Given the description of an element on the screen output the (x, y) to click on. 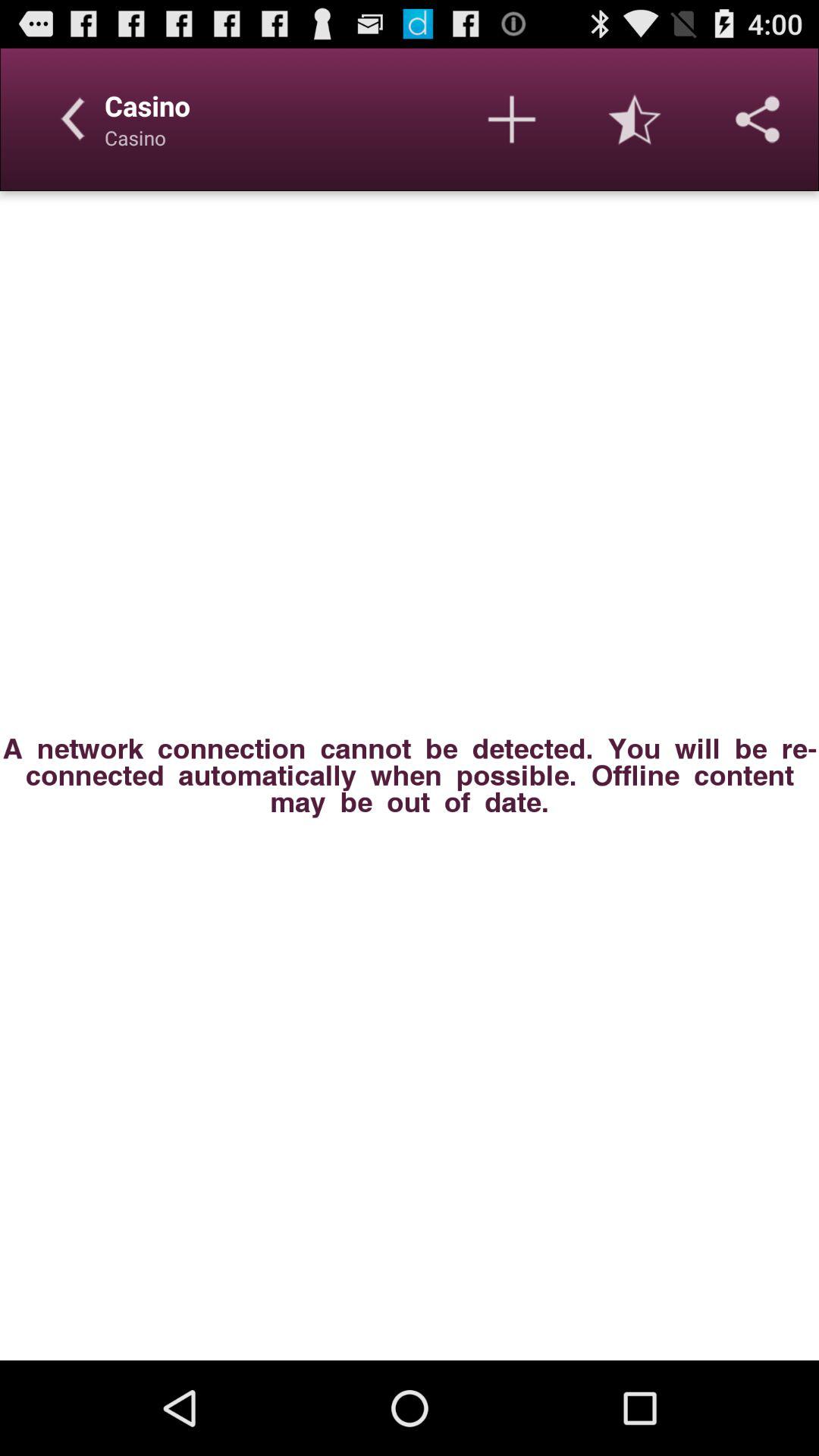
toggle star option (634, 119)
